Given the description of an element on the screen output the (x, y) to click on. 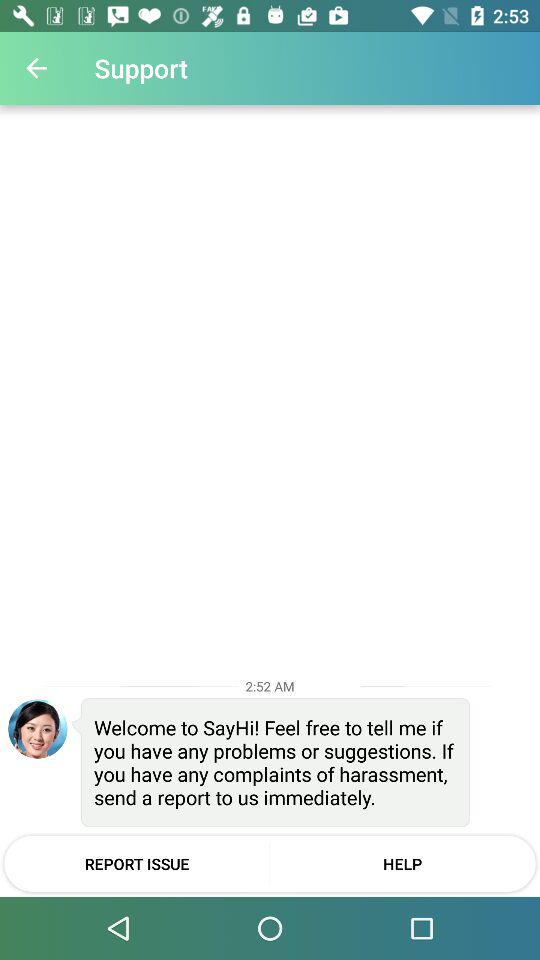
choose item next to the support (36, 68)
